Given the description of an element on the screen output the (x, y) to click on. 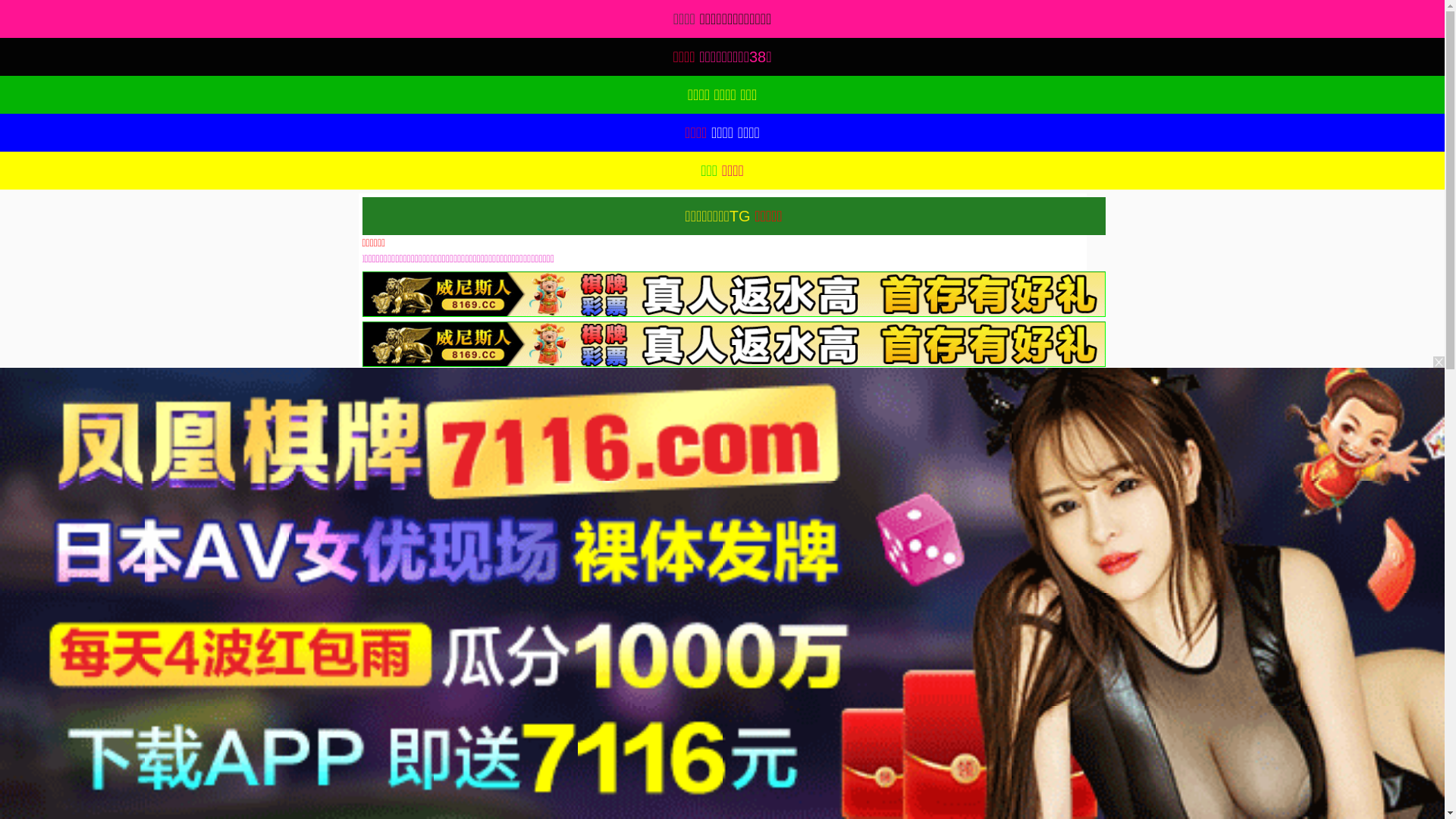
91TV Element type: hover (1240, 593)
